Given the description of an element on the screen output the (x, y) to click on. 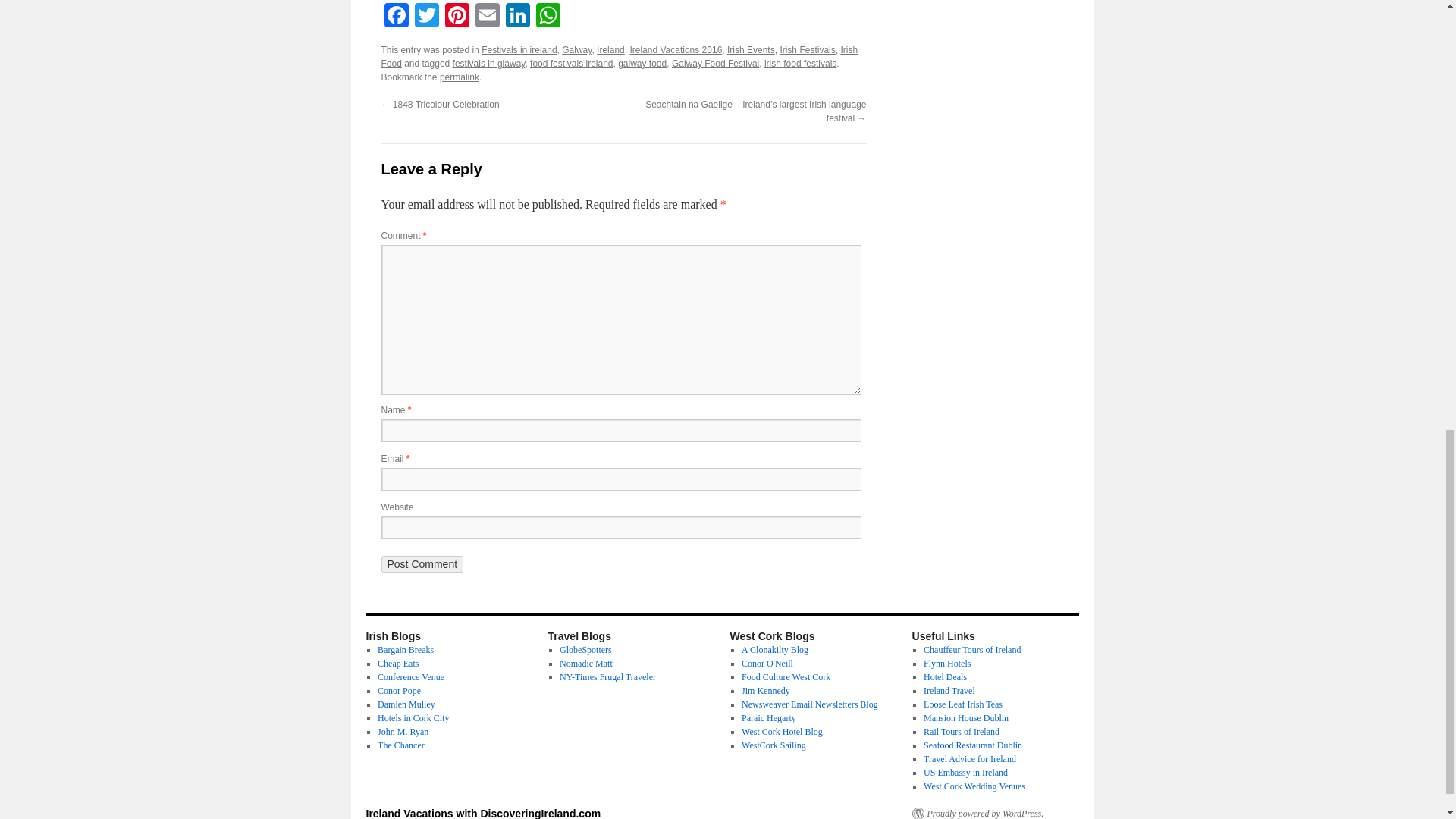
Irish Events (750, 50)
Twitter (425, 17)
Permalink to The Galway Food Festival (459, 77)
Irish Food (618, 56)
Pinterest (456, 17)
Ireland (610, 50)
Irish Festivals (806, 50)
food festivals ireland (570, 63)
Galway (576, 50)
WhatsApp (547, 17)
